Given the description of an element on the screen output the (x, y) to click on. 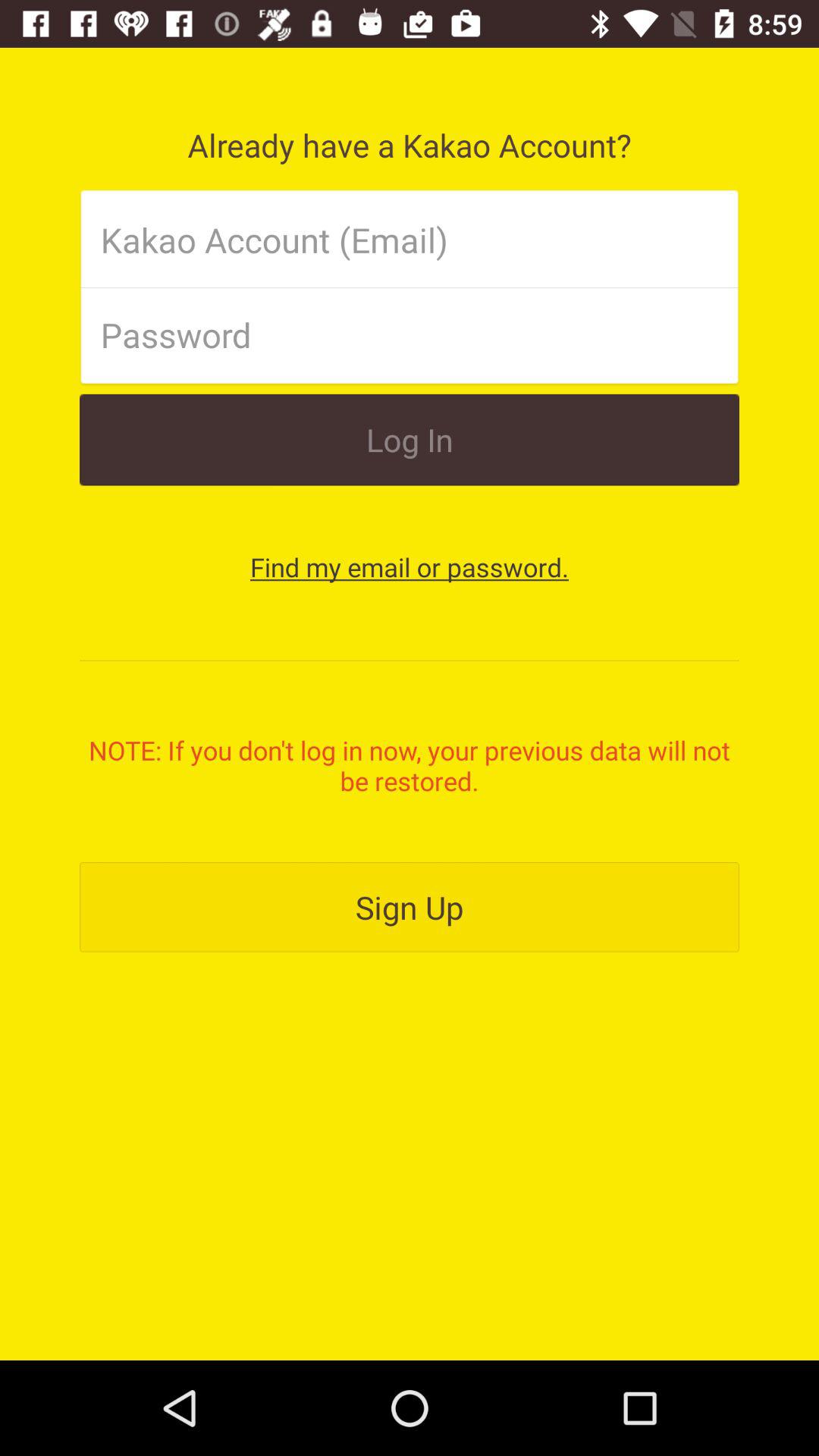
click sign up item (409, 907)
